Given the description of an element on the screen output the (x, y) to click on. 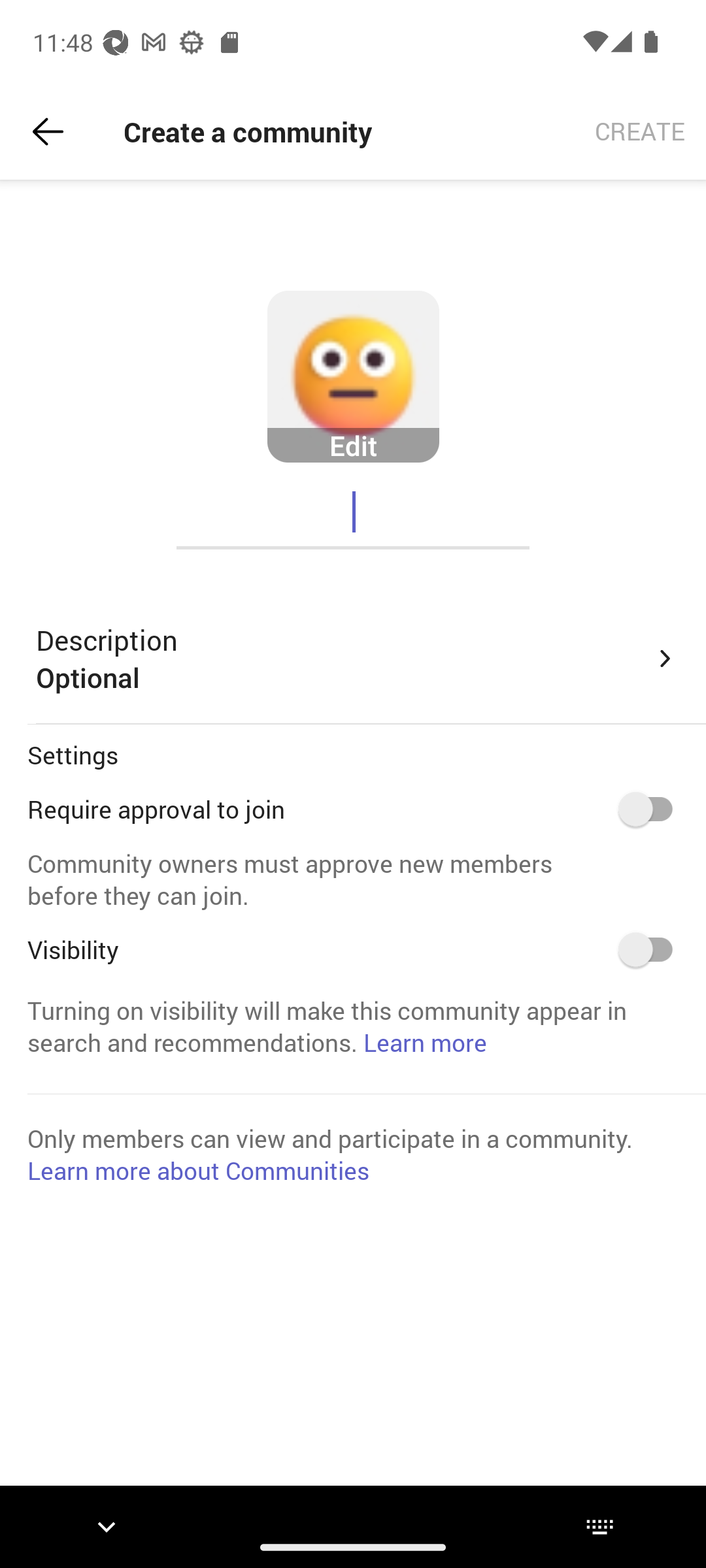
Back (48, 131)
CREATE (639, 131)
Edit community image Edit (353, 377)
Description Optional (357, 659)
Require approval to join (652, 808)
Visibility (652, 949)
